Given the description of an element on the screen output the (x, y) to click on. 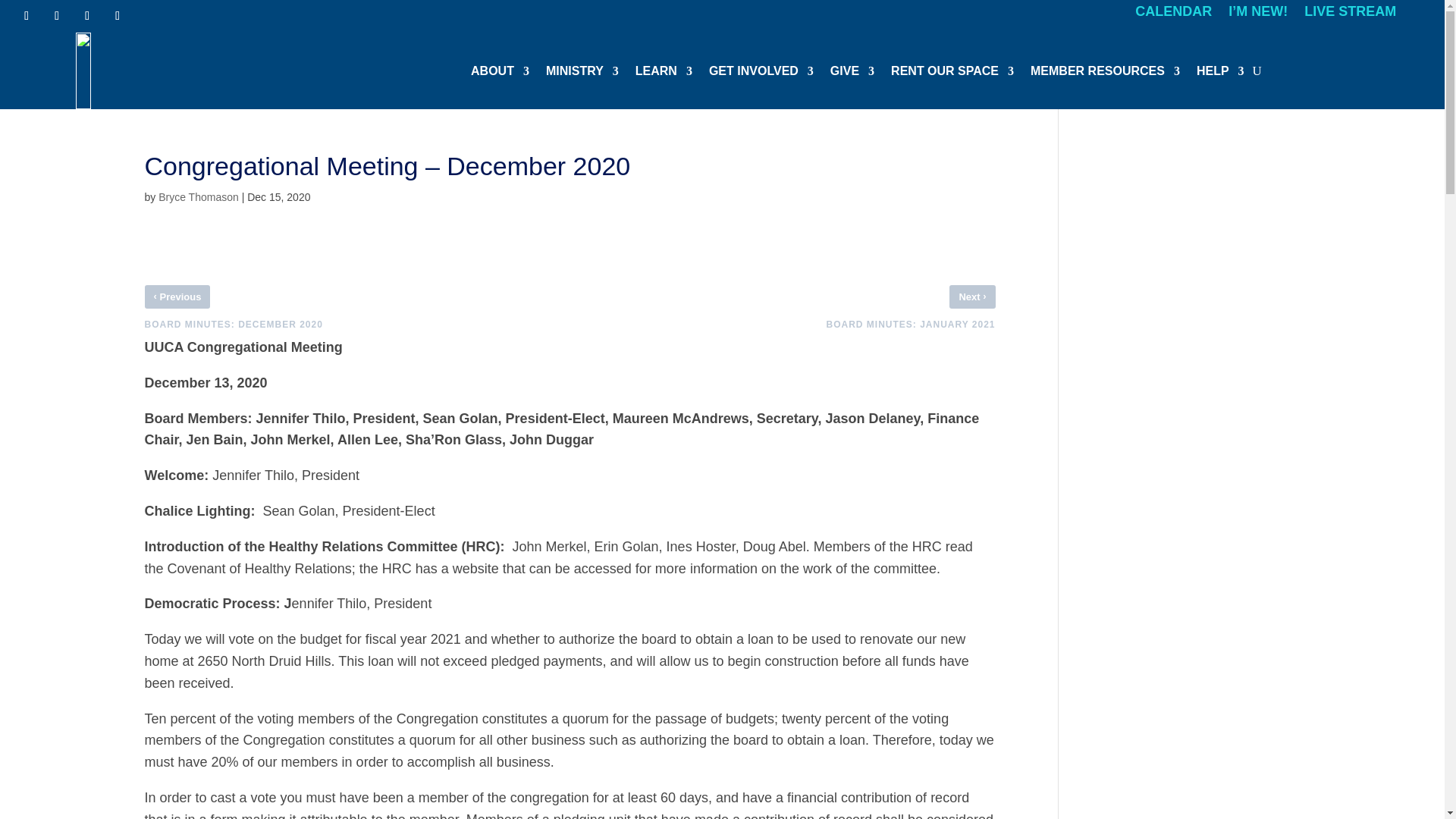
GET INVOLVED (761, 70)
LIVE STREAM (1350, 13)
Posts by Bryce Thomason (198, 196)
Follow on Google (116, 15)
Follow on Youtube (87, 15)
Follow on Facebook (26, 15)
MINISTRY (582, 70)
CALENDAR (1173, 13)
Follow on Instagram (56, 15)
